Given the description of an element on the screen output the (x, y) to click on. 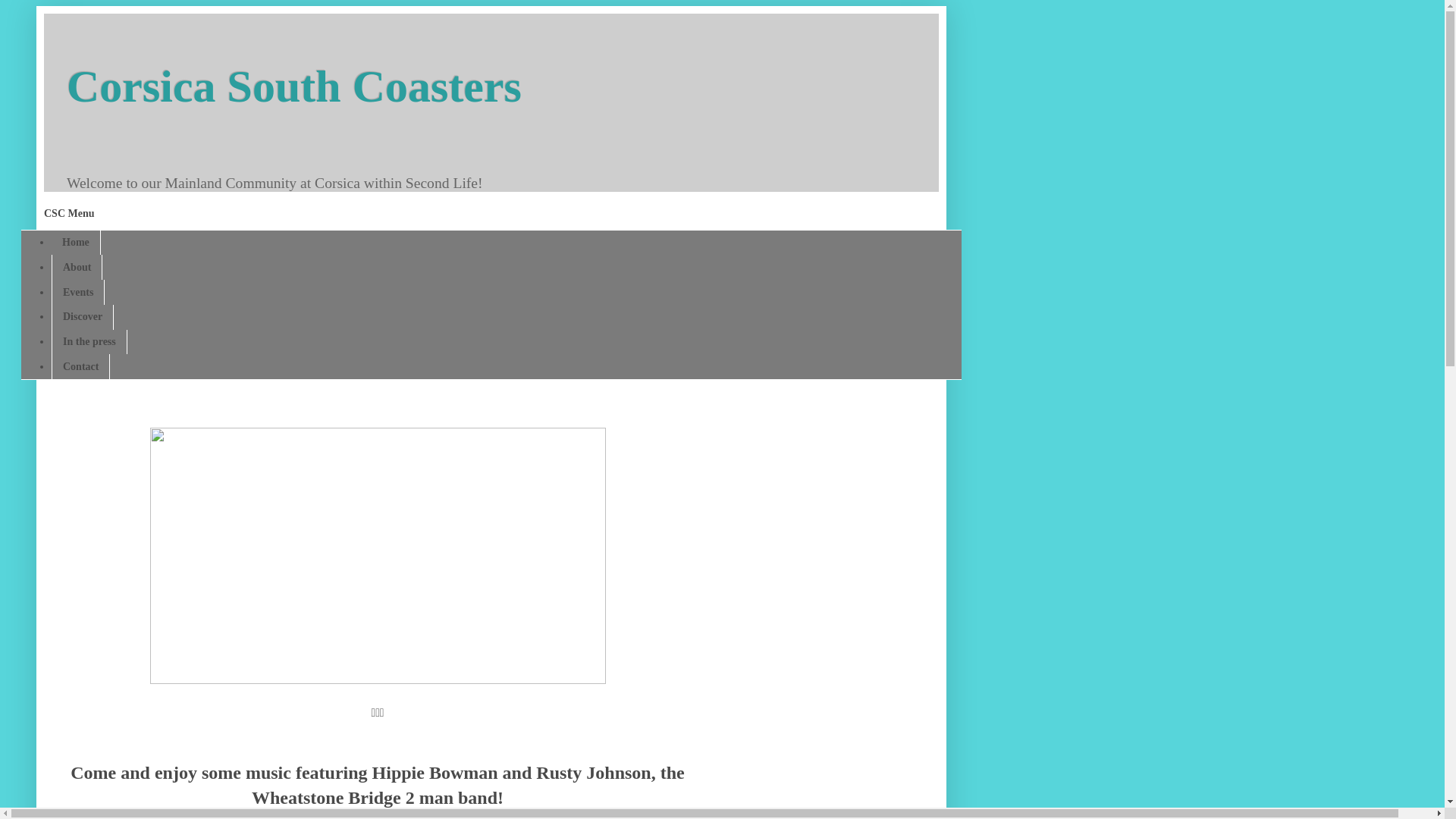
Events (77, 292)
Corsica South Coasters (293, 86)
Contact (80, 366)
Home (75, 242)
About (75, 267)
Discover (81, 317)
In the press (89, 342)
